Given the description of an element on the screen output the (x, y) to click on. 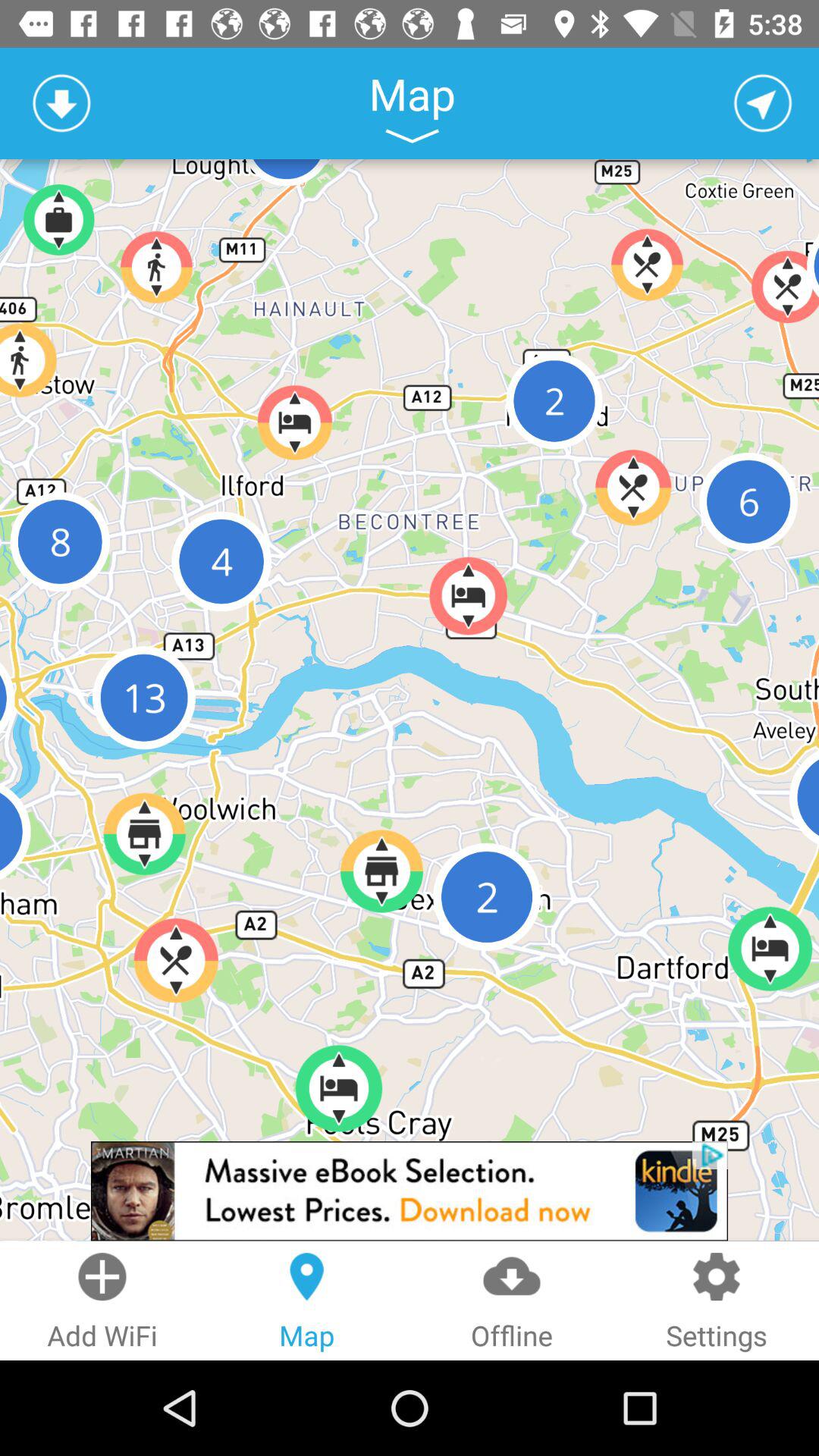
click to the location (762, 103)
